Given the description of an element on the screen output the (x, y) to click on. 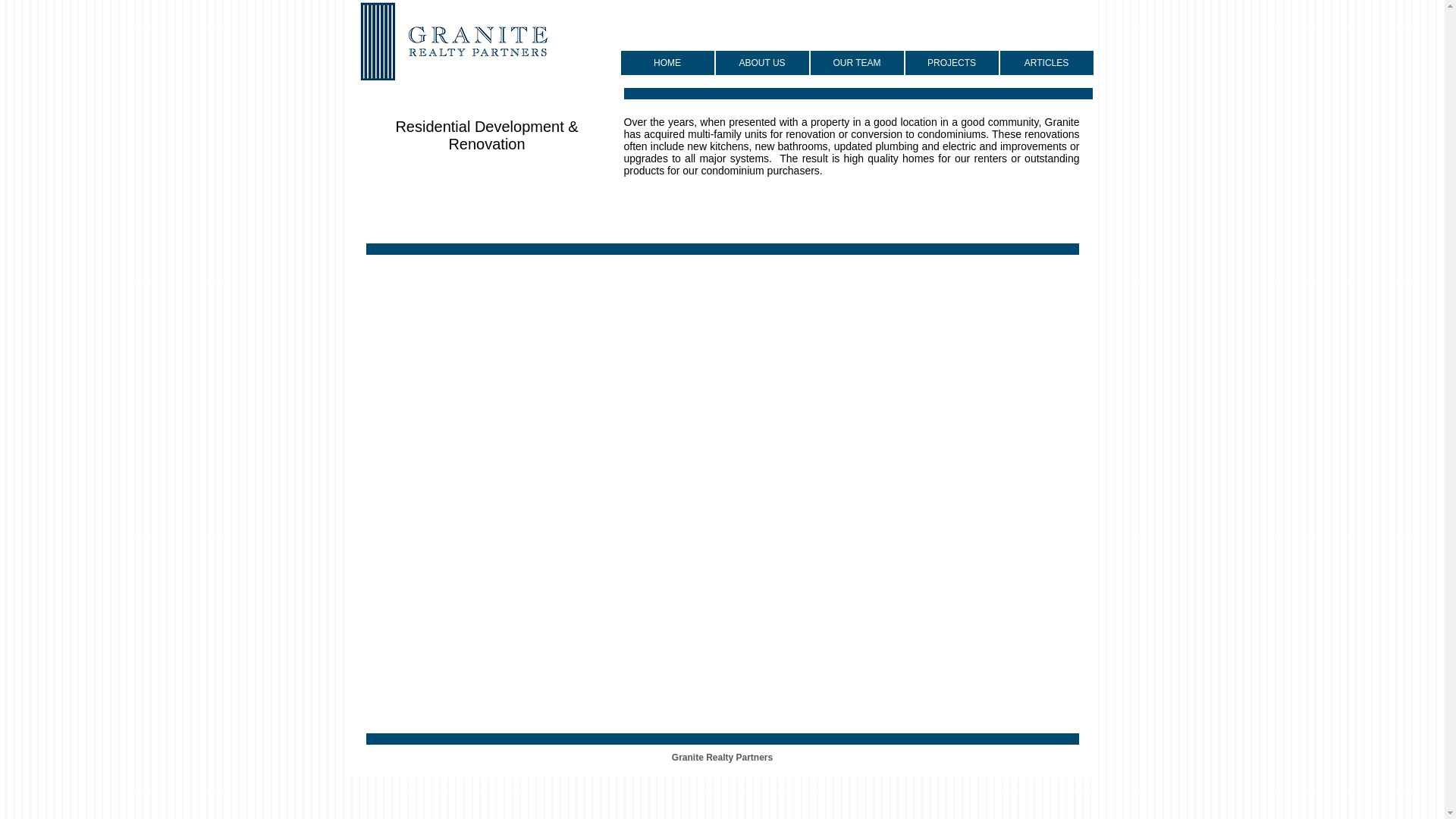
OUR TEAM (855, 62)
HOME (666, 62)
ABOUT US (762, 62)
ARTICLES (1045, 62)
